Given the description of an element on the screen output the (x, y) to click on. 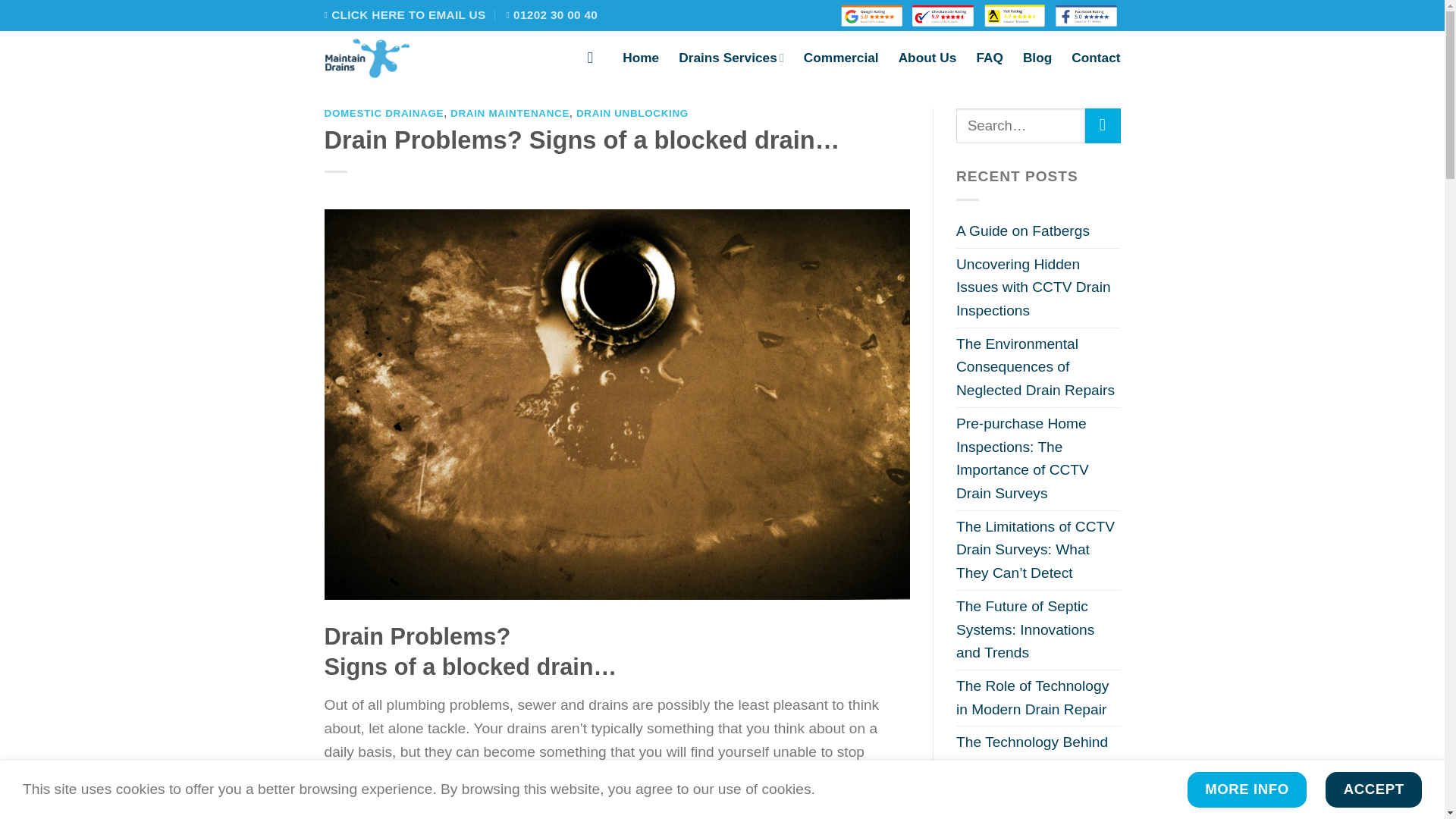
Contact (1095, 58)
DOMESTIC DRAINAGE (384, 112)
DRAIN MAINTENANCE (509, 112)
About Us (927, 58)
DRAIN UNBLOCKING (632, 112)
Commercial (841, 58)
01202 30 00 40 (550, 15)
CLICK HERE TO EMAIL US (405, 15)
Home (641, 58)
01202 30 00 40 (550, 15)
Drains Services (731, 58)
